Given the description of an element on the screen output the (x, y) to click on. 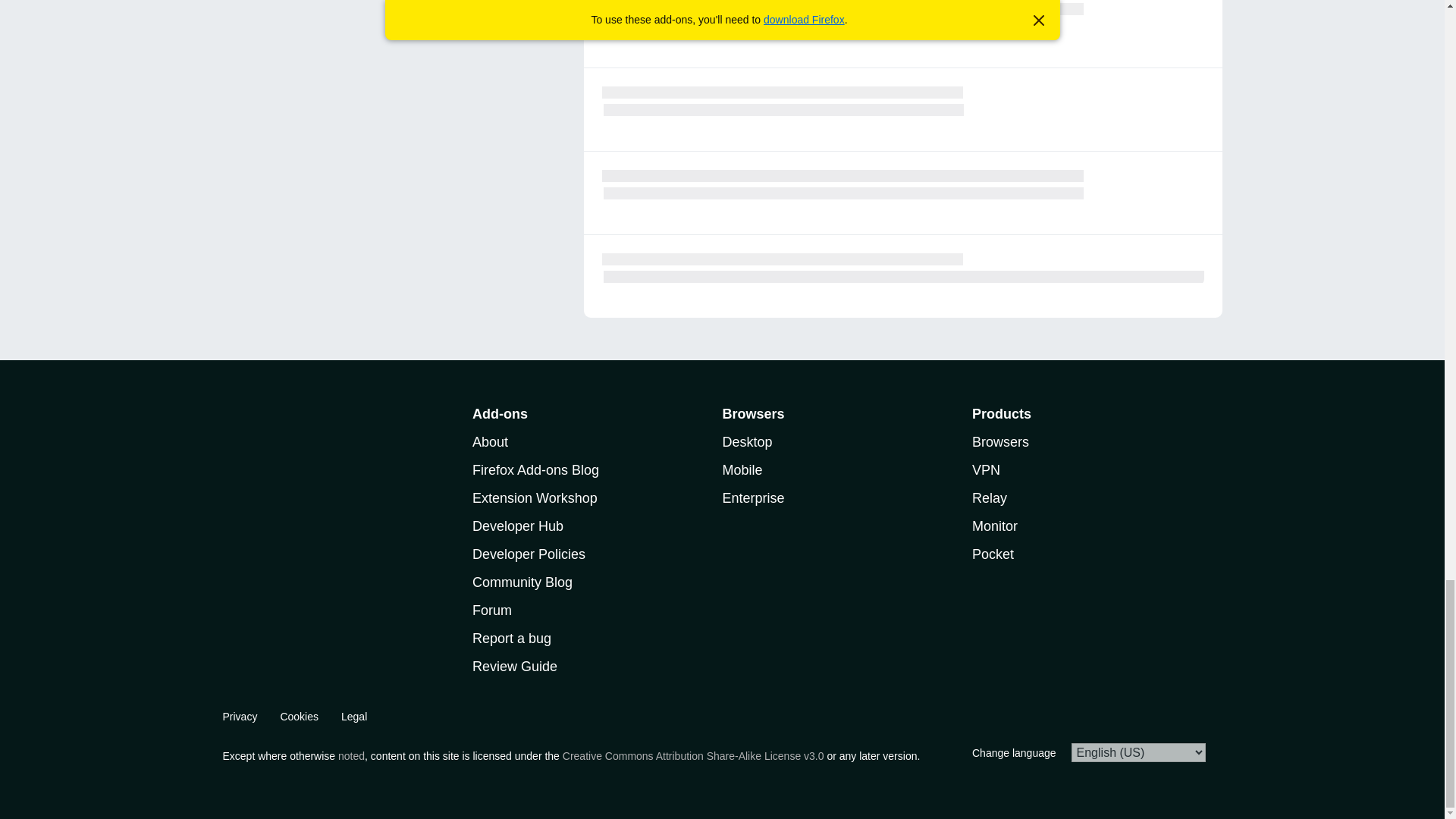
Enterprise (753, 498)
Developer Policies (528, 554)
Developer Hub (517, 525)
Mobile (741, 469)
Firefox Add-ons Blog (534, 469)
Extension Workshop (533, 498)
Forum (491, 610)
VPN (986, 469)
Add-ons (499, 413)
Browsers (1000, 441)
